Given the description of an element on the screen output the (x, y) to click on. 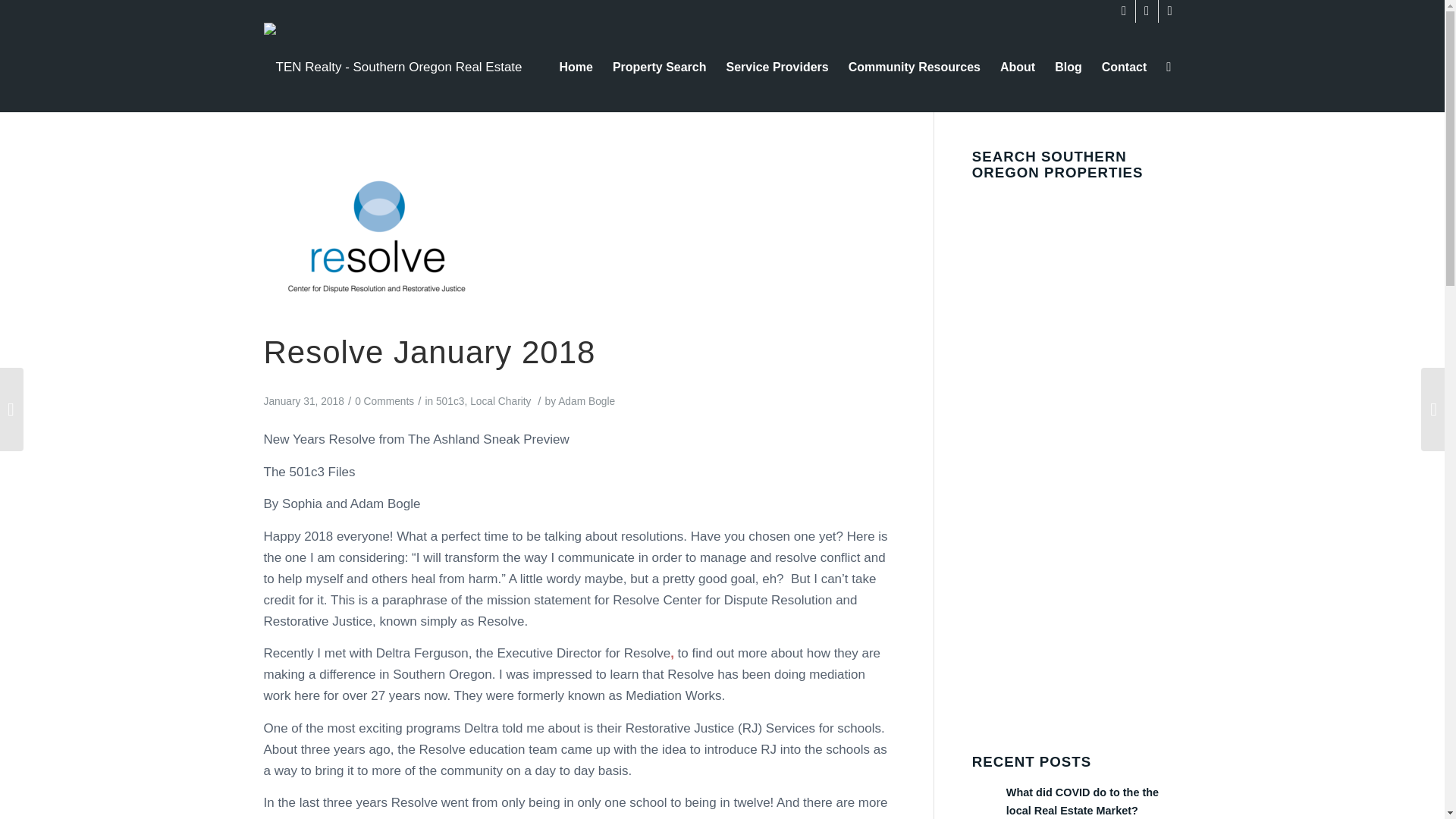
Posts by Adam Bogle (585, 401)
Permanent Link: Resolve January 2018 (429, 352)
0 Comments (384, 401)
Community Resources (914, 67)
What did COVID do to the the local Real Estate Market? (1076, 800)
Service Providers (777, 67)
Linkedin (1169, 11)
Facebook (1146, 11)
Adam Bogle (585, 401)
Local Charity (500, 401)
Resolve January 2018 (429, 352)
501c3 (449, 401)
Property Search (659, 67)
Twitter (1124, 11)
